Given the description of an element on the screen output the (x, y) to click on. 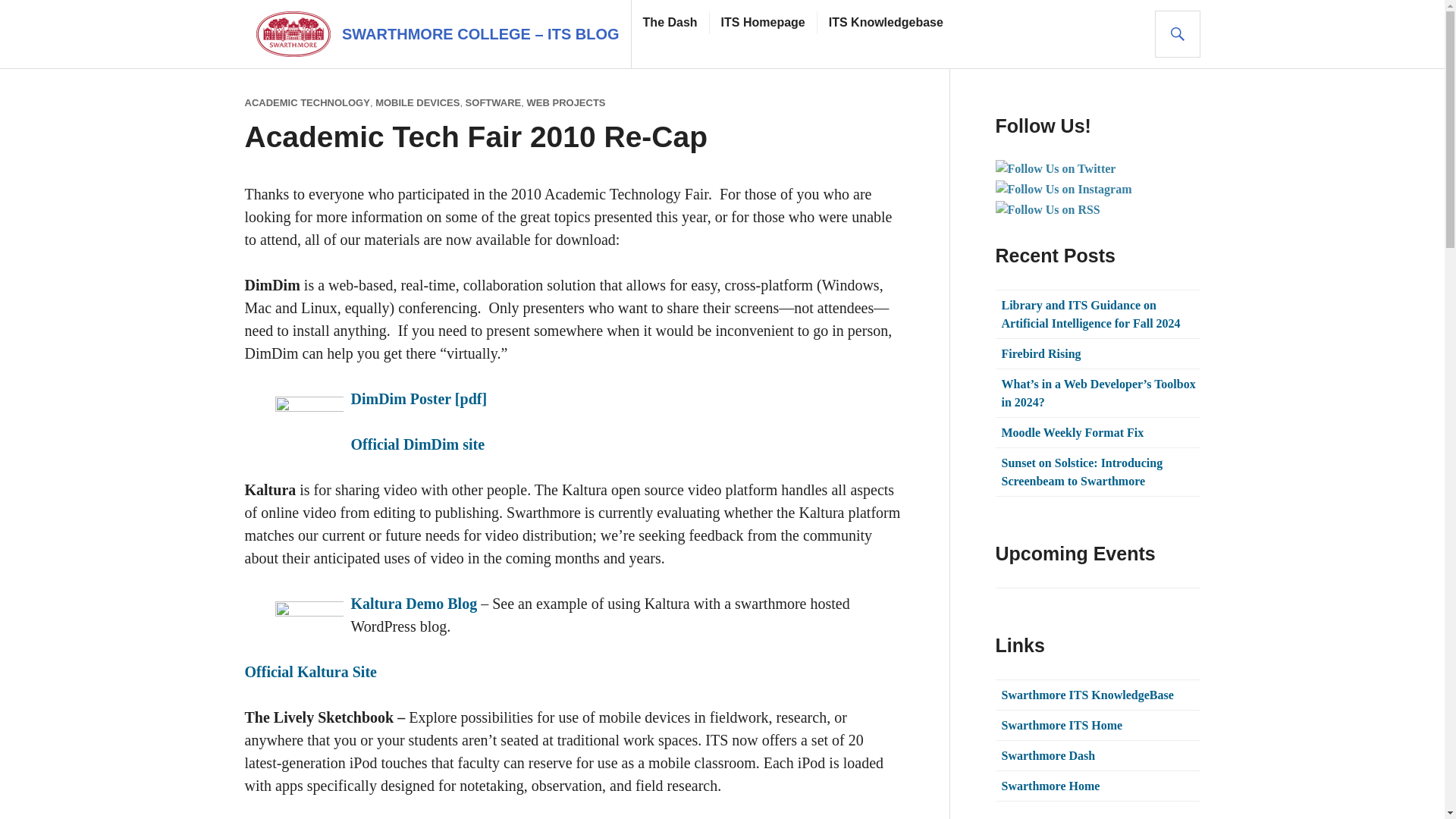
ITS Homepage (762, 22)
Kaltura (309, 671)
ACADEMIC TECHNOLOGY (306, 102)
DimDimPoster (308, 414)
Official DimDim site (417, 443)
kalturablog (308, 622)
MOBILE DEVICES (417, 102)
Swarthmore Kaltura Video Demo (413, 603)
Official DimDim site (417, 443)
Kaltura Demo Blog (413, 603)
